Given the description of an element on the screen output the (x, y) to click on. 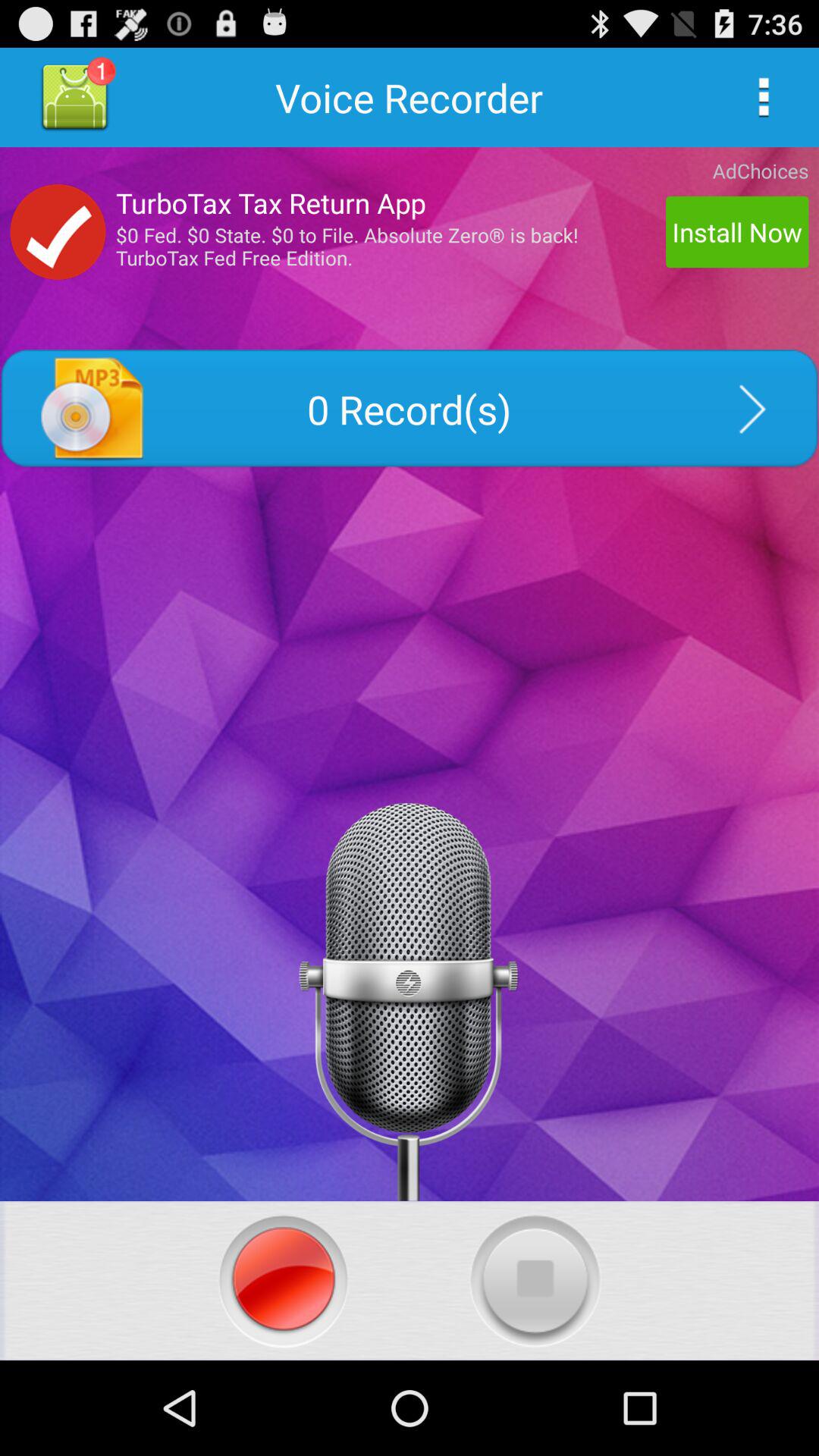
click on 3 dots to open menu (763, 97)
